Given the description of an element on the screen output the (x, y) to click on. 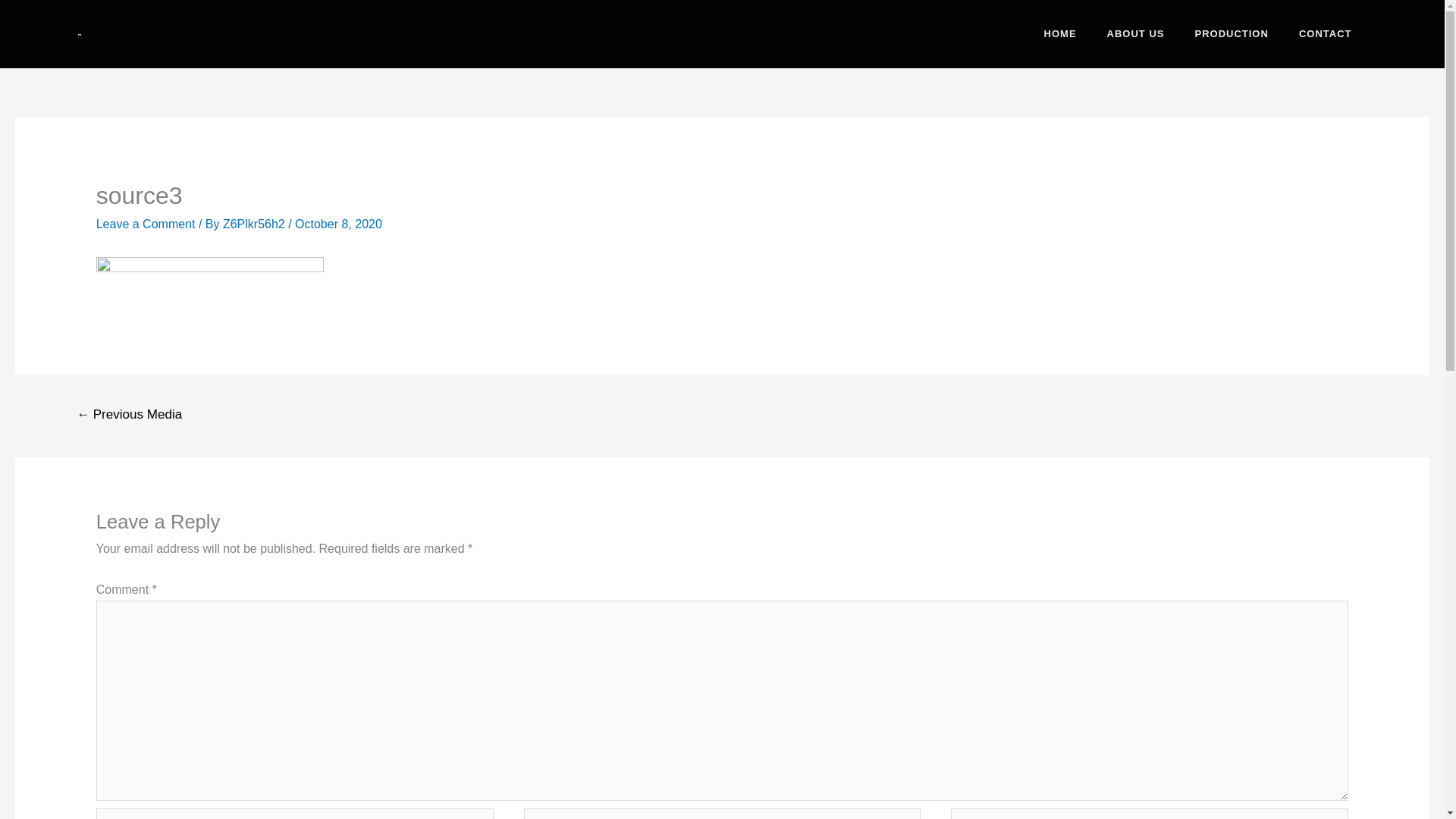
ABOUT US (1135, 33)
PRODUCTION (1230, 33)
View all posts by Z6Plkr56h2 (255, 223)
CONTACT (1325, 33)
Leave a Comment (145, 223)
HOME (1060, 33)
Z6Plkr56h2 (255, 223)
